Given the description of an element on the screen output the (x, y) to click on. 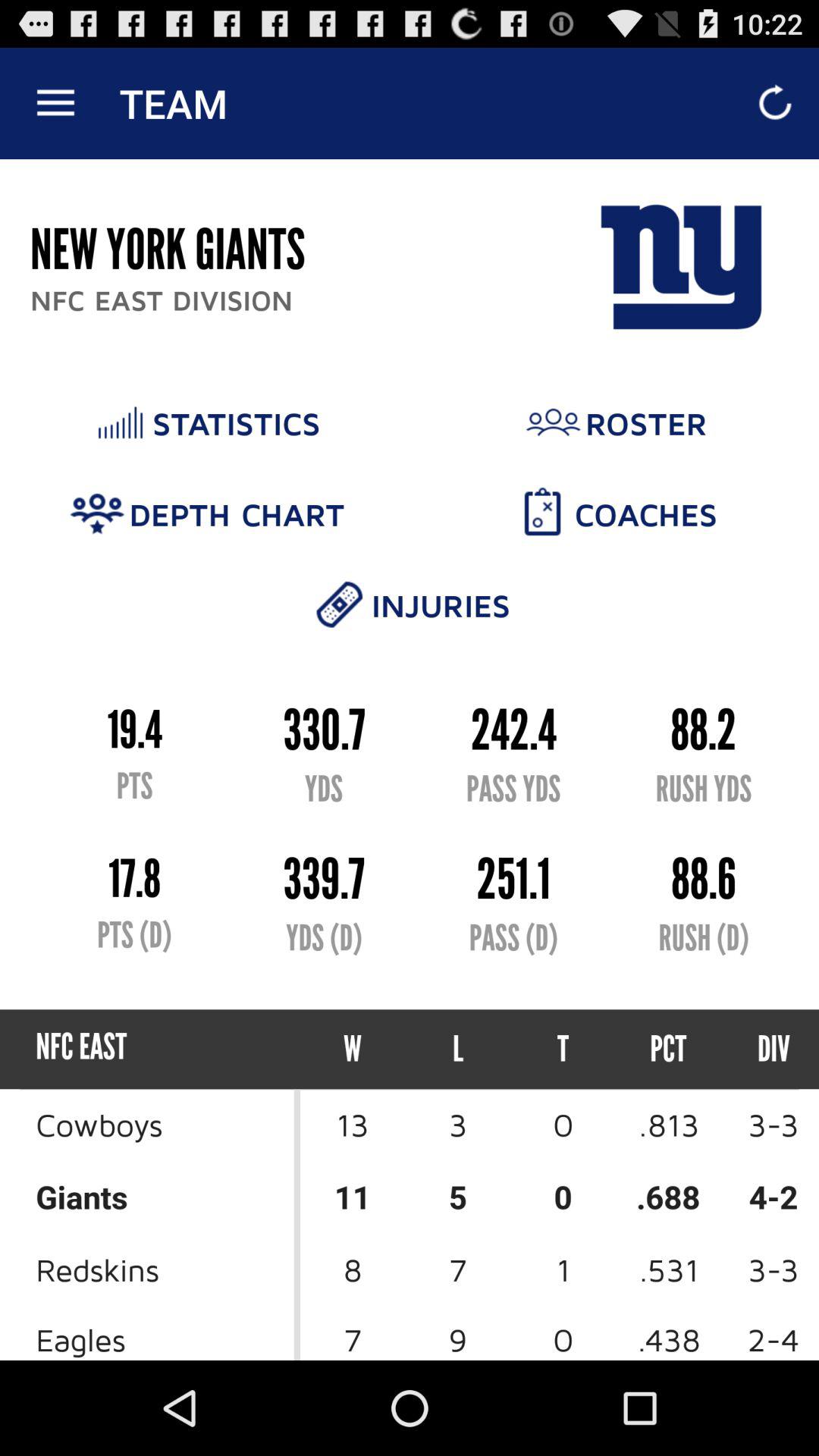
turn off app to the left of the team (55, 103)
